Given the description of an element on the screen output the (x, y) to click on. 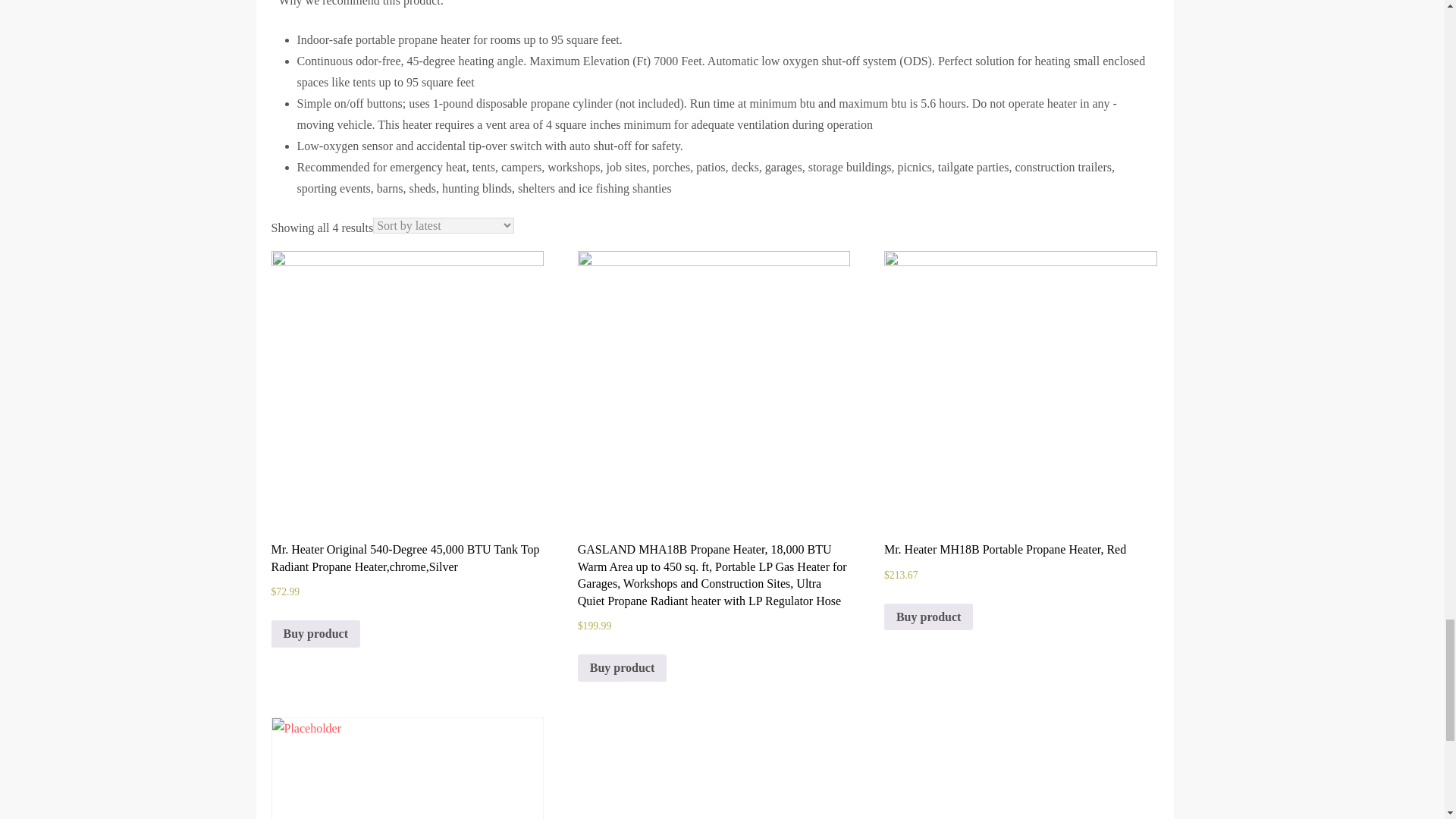
Buy product (315, 633)
Buy product (622, 667)
Buy product (928, 616)
